Given the description of an element on the screen output the (x, y) to click on. 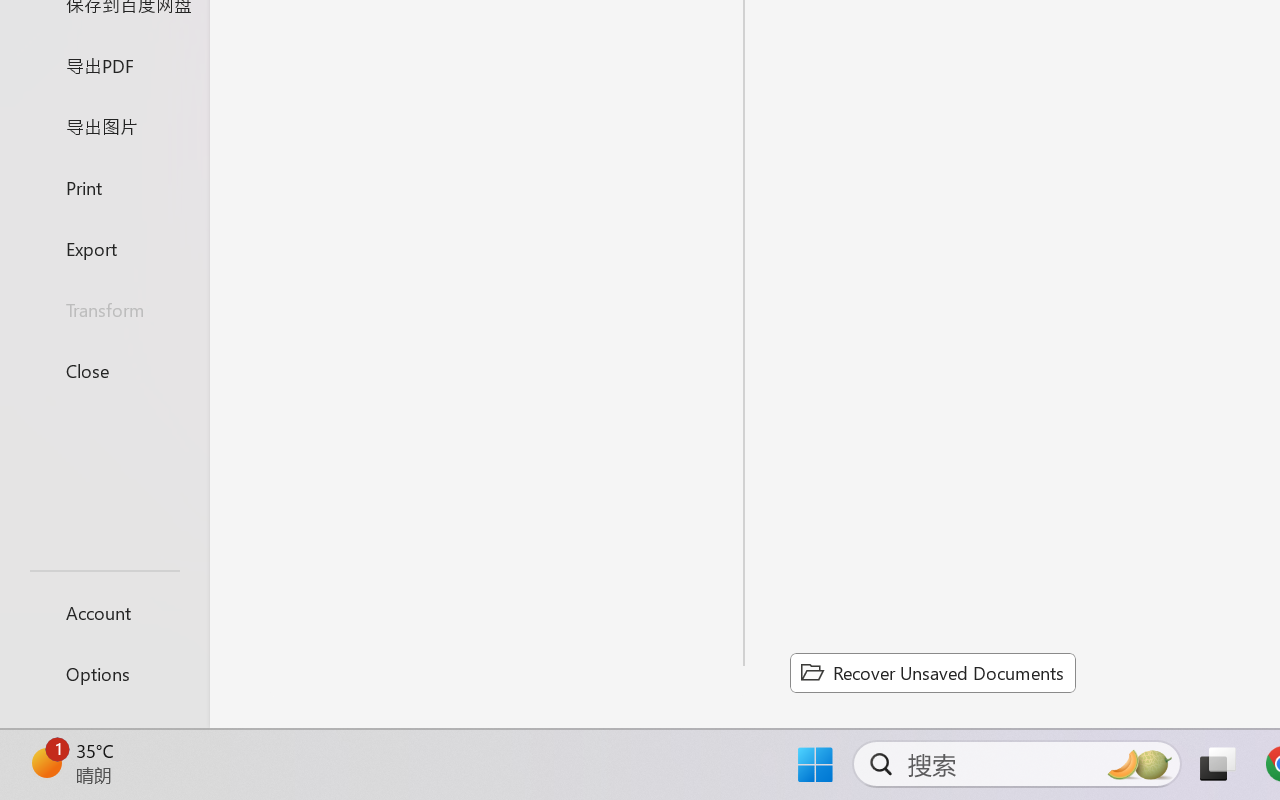
Options (104, 673)
Recover Unsaved Documents (932, 672)
Export (104, 248)
Transform (104, 309)
Print (104, 186)
Account (104, 612)
